Given the description of an element on the screen output the (x, y) to click on. 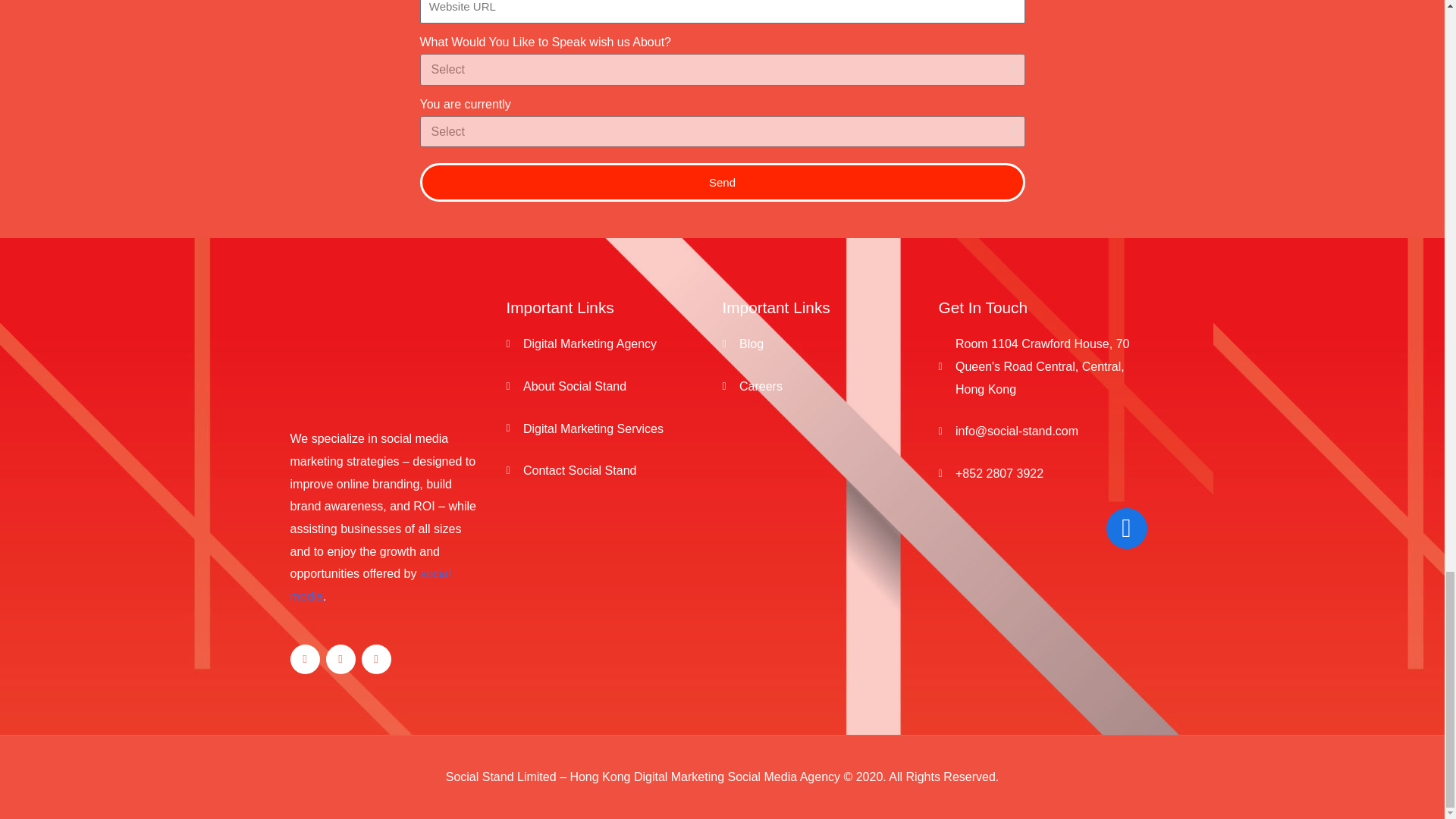
Send (722, 181)
social media marketing (368, 449)
Facebook-f (303, 659)
Linkedin-in (375, 659)
Instagram (340, 659)
social media (369, 584)
